Given the description of an element on the screen output the (x, y) to click on. 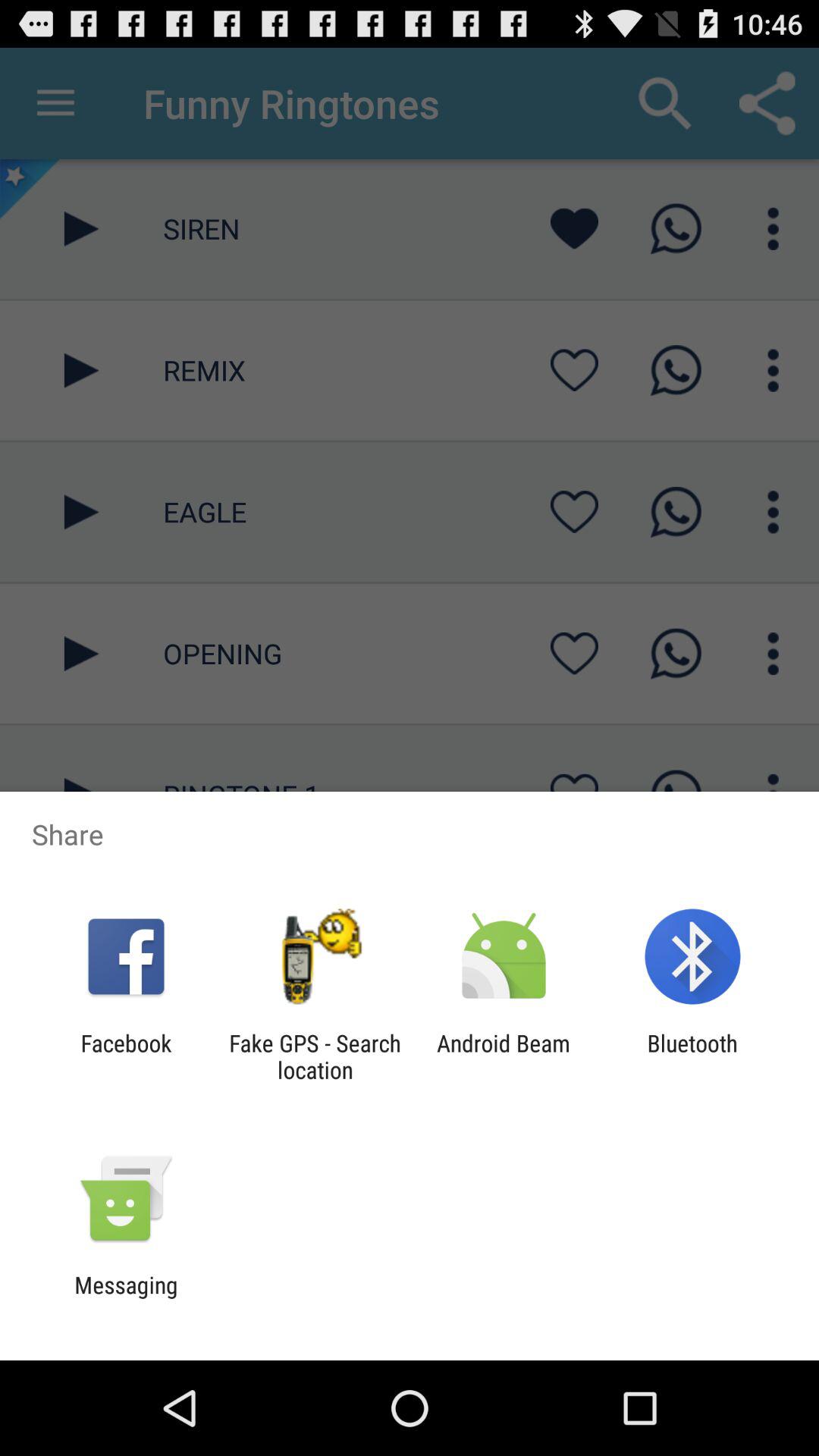
select icon next to the facebook item (314, 1056)
